Given the description of an element on the screen output the (x, y) to click on. 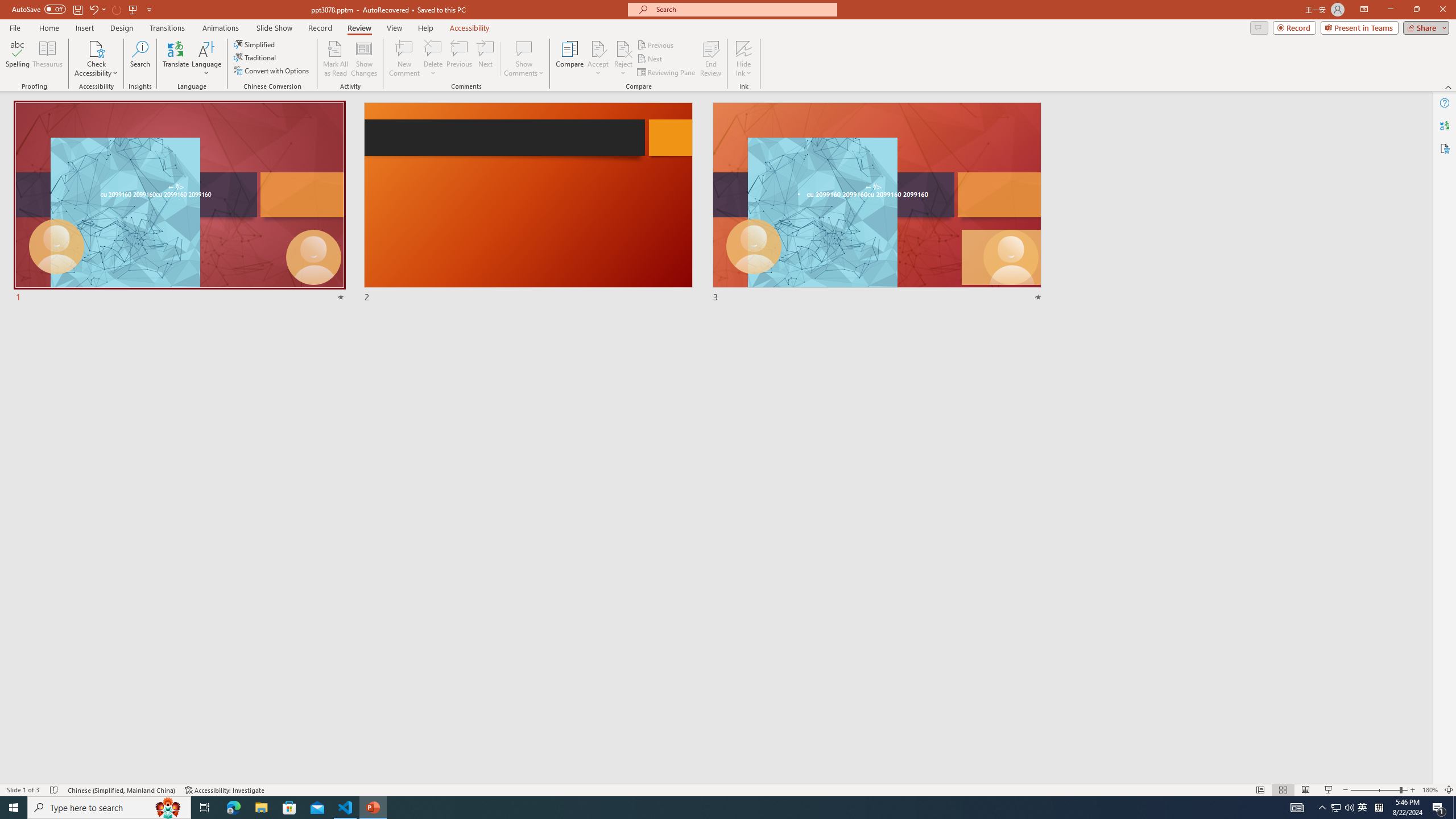
Present in Teams (1359, 27)
Convert with Options... (272, 69)
More Options (743, 68)
Slide Sorter (1282, 790)
Previous (655, 44)
Spell Check No Errors (54, 790)
Accessibility Checker Accessibility: Investigate (224, 790)
Translator (1444, 125)
Share (1423, 27)
Check Accessibility (95, 58)
Class: MsoCommandBar (728, 789)
Next (649, 58)
Insert (83, 28)
Delete (432, 58)
Close (1442, 9)
